Given the description of an element on the screen output the (x, y) to click on. 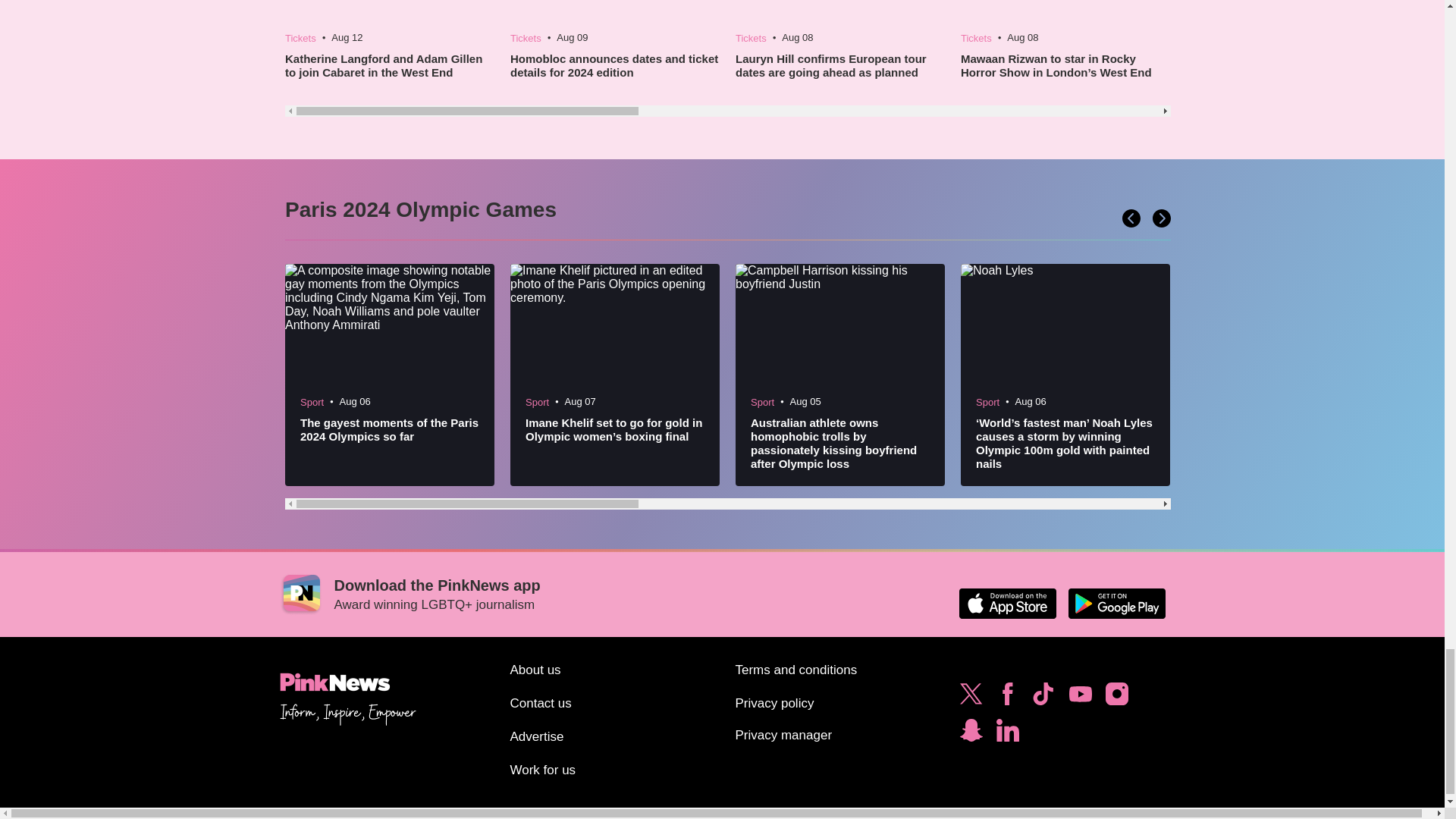
Download the PinkNews app on the Apple App Store (1006, 603)
Follow PinkNews on LinkedIn (1007, 733)
Follow PinkNews on Instagram (1116, 697)
Follow PinkNews on TikTok (1042, 697)
Subscribe to PinkNews on Snapchat (970, 733)
Subscribe to PinkNews on YouTube (1079, 697)
Download the PinkNews app on Google Play (1115, 603)
Follow PinkNews on Twitter (970, 697)
